Given the description of an element on the screen output the (x, y) to click on. 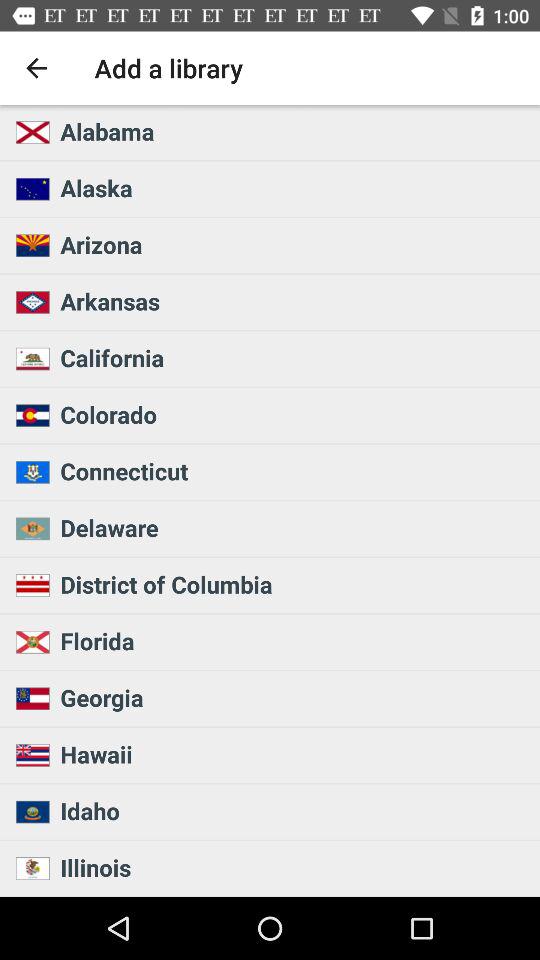
swipe until connecticut item (294, 471)
